Given the description of an element on the screen output the (x, y) to click on. 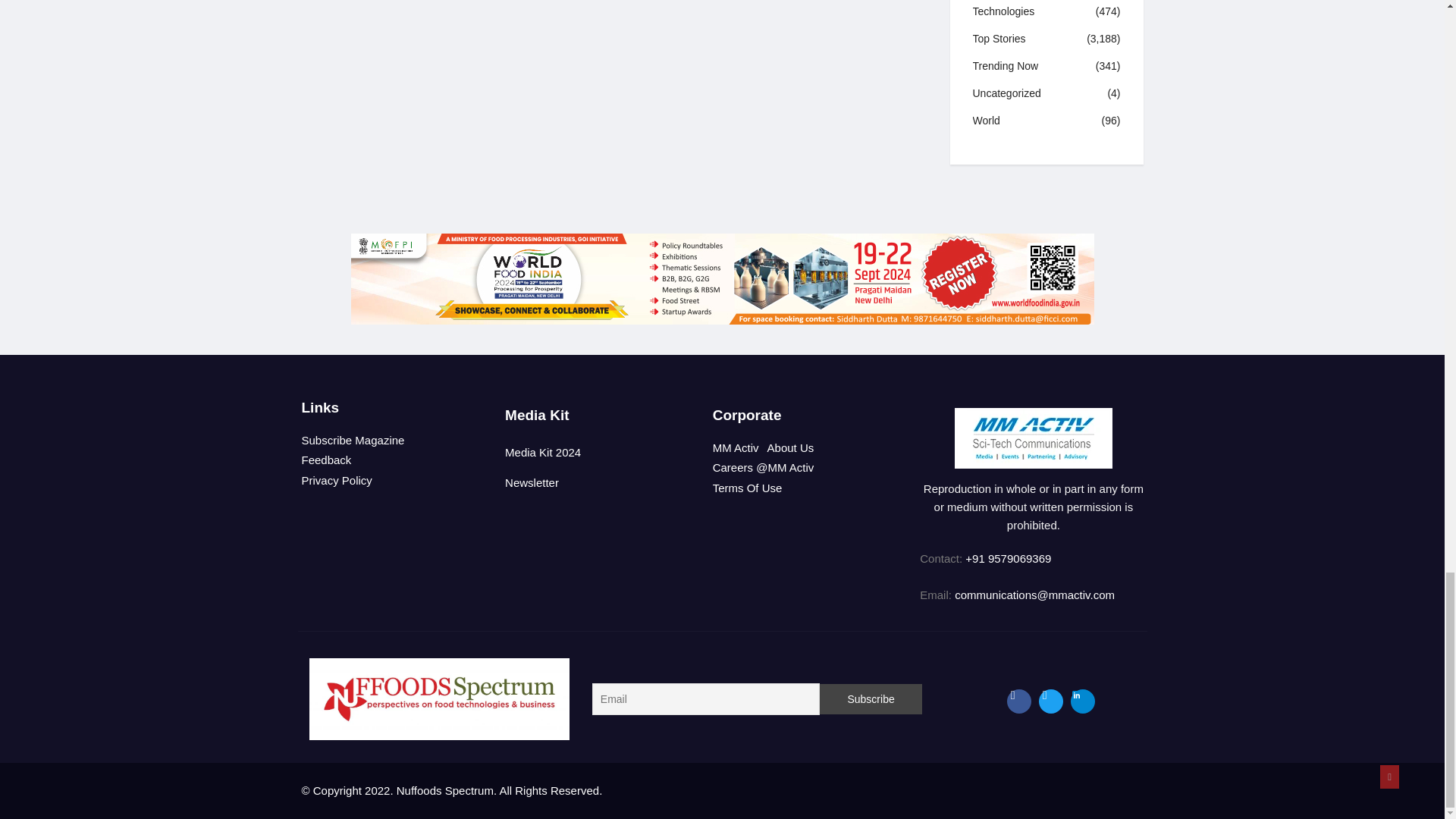
Subscribe (871, 698)
